Given the description of an element on the screen output the (x, y) to click on. 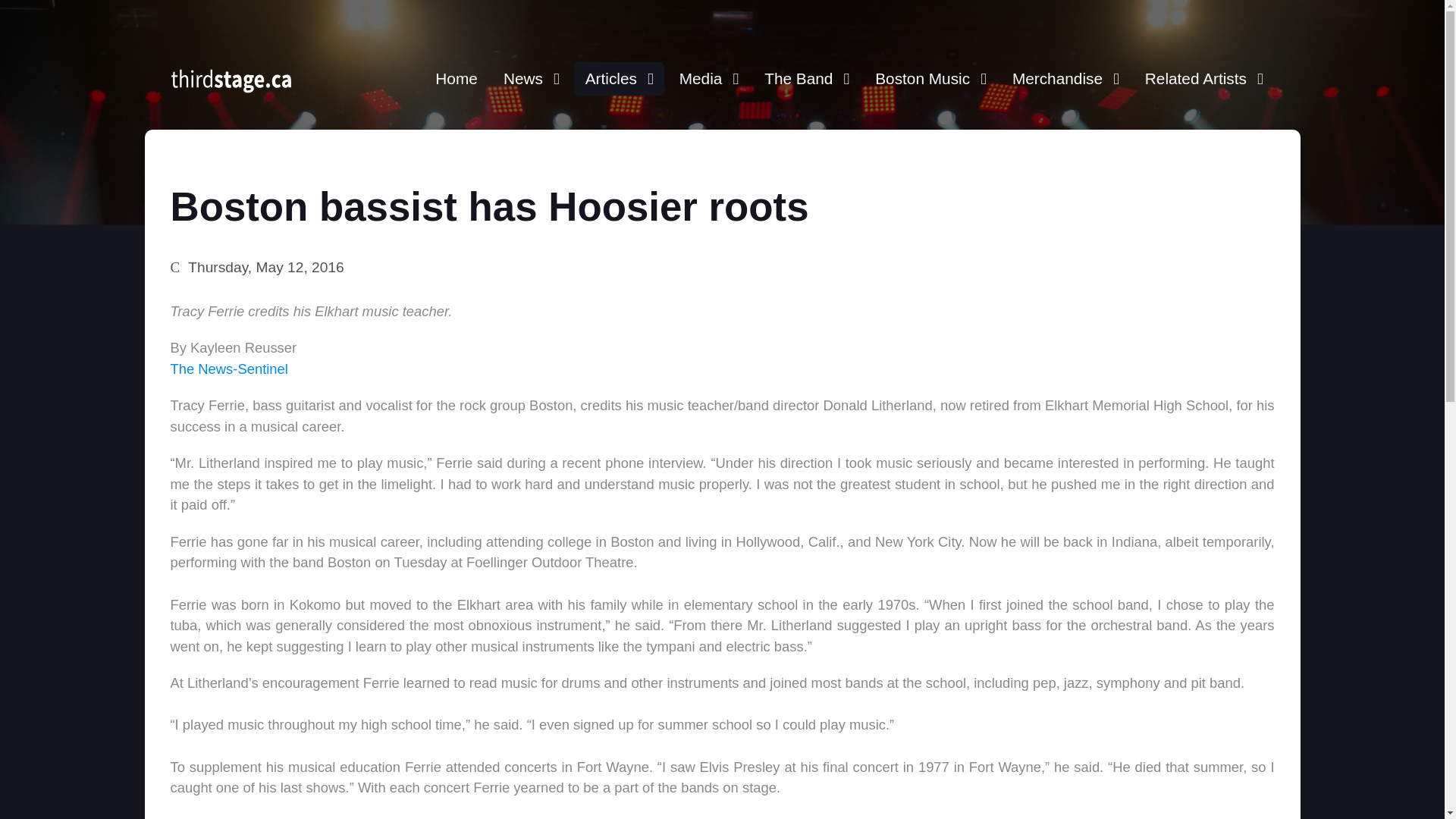
thirdstage.ca (231, 85)
Home (457, 78)
Articles (619, 78)
The Band (806, 78)
News (531, 78)
Media (708, 78)
